Given the description of an element on the screen output the (x, y) to click on. 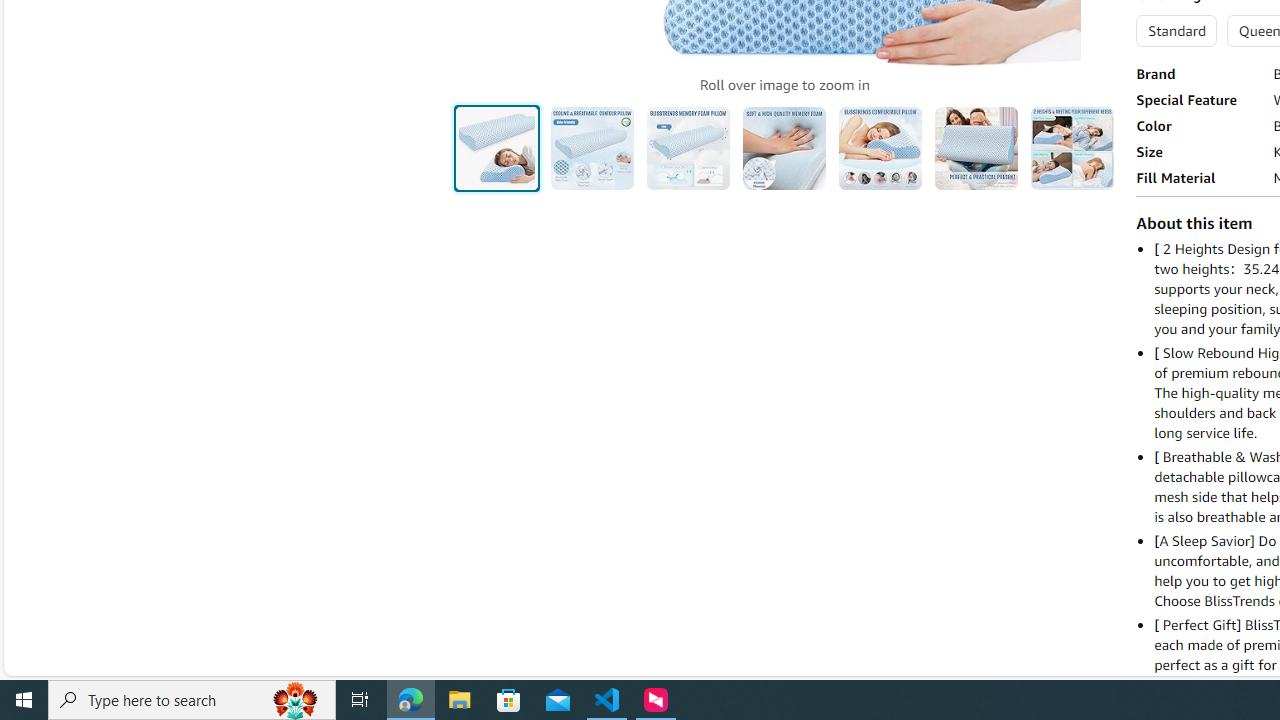
Standard (1176, 30)
